Given the description of an element on the screen output the (x, y) to click on. 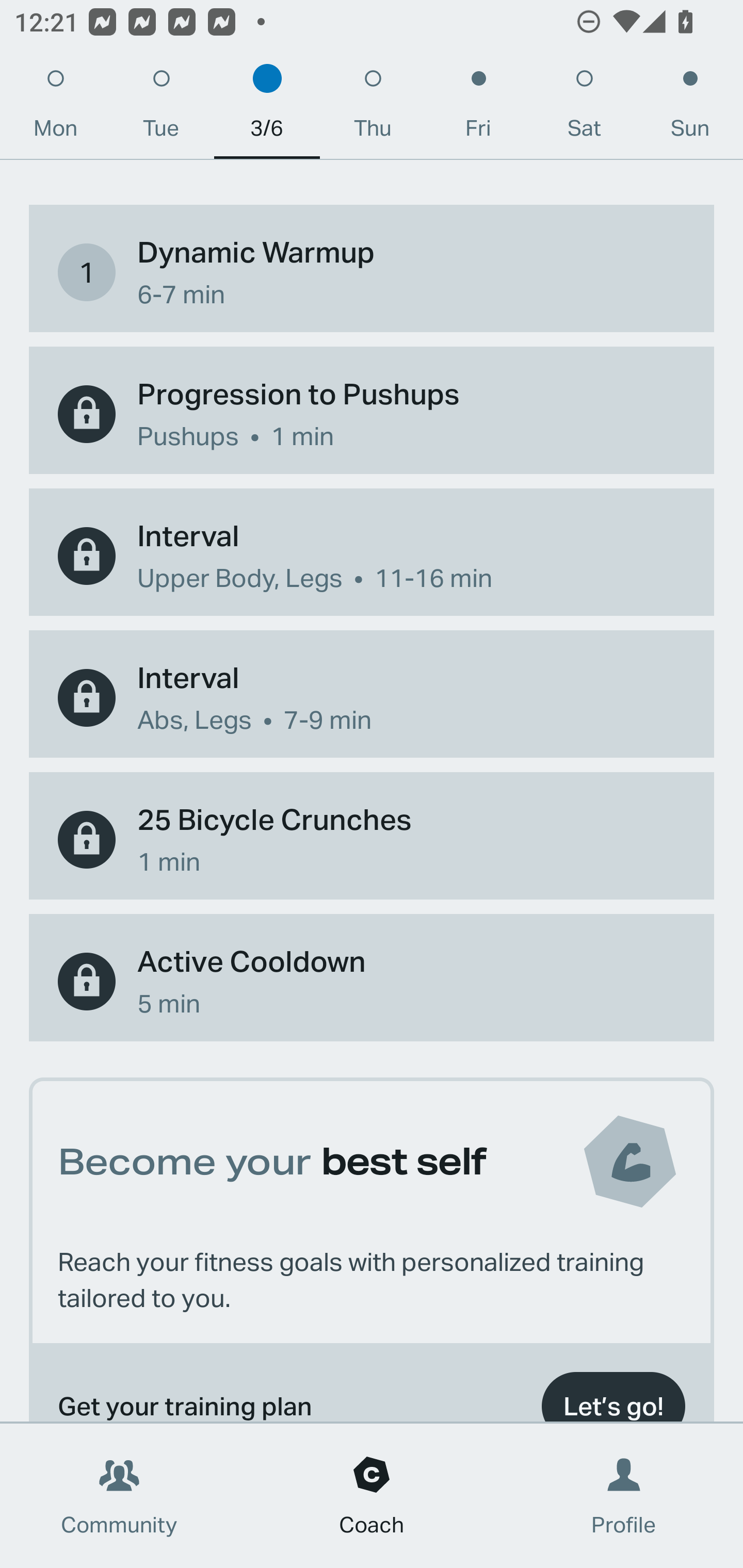
Mon (55, 108)
Tue (160, 108)
3/6 (266, 108)
Thu (372, 108)
Fri (478, 108)
Sat (584, 108)
Sun (690, 108)
1 Dynamic Warmup 6-7 min (371, 271)
Progression to Pushups Pushups  •  1 min (371, 414)
Interval Upper Body, Legs  •  11-16 min (371, 555)
Interval Abs, Legs  •  7-9 min (371, 697)
25 Bicycle Crunches 1 min (371, 839)
Active Cooldown 5 min (371, 981)
Let’s go! (613, 1392)
Community (119, 1495)
Profile (624, 1495)
